Given the description of an element on the screen output the (x, y) to click on. 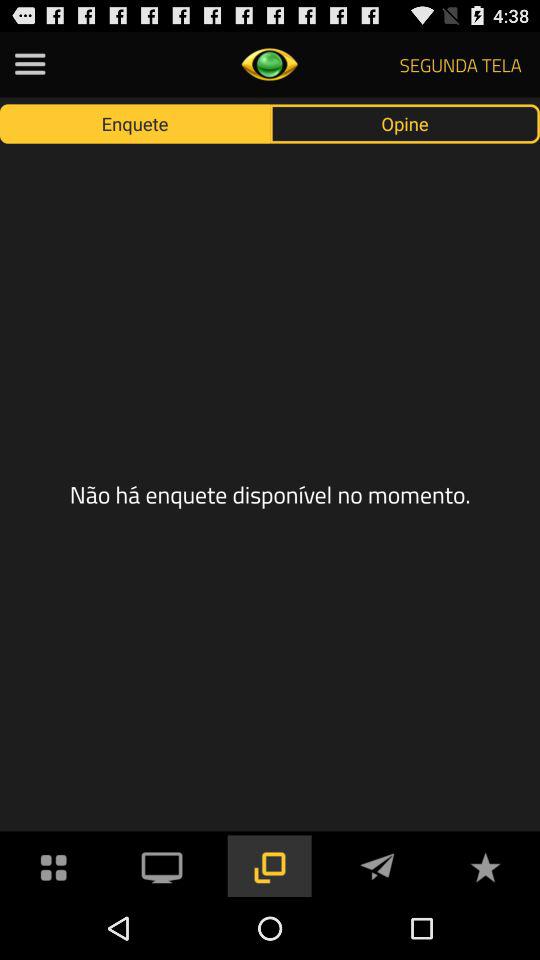
open opine icon (405, 123)
